Given the description of an element on the screen output the (x, y) to click on. 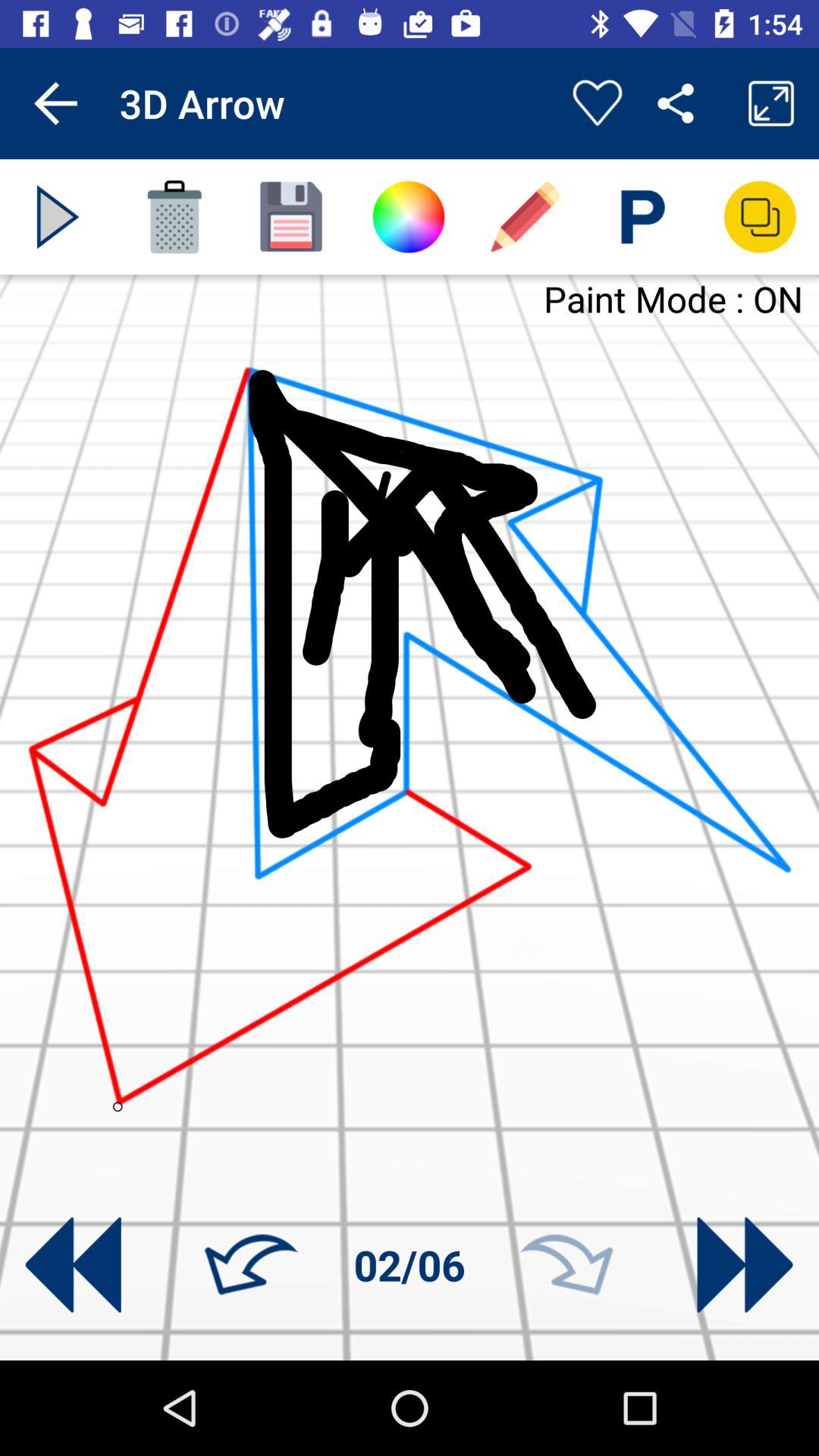
go back (251, 1264)
